Given the description of an element on the screen output the (x, y) to click on. 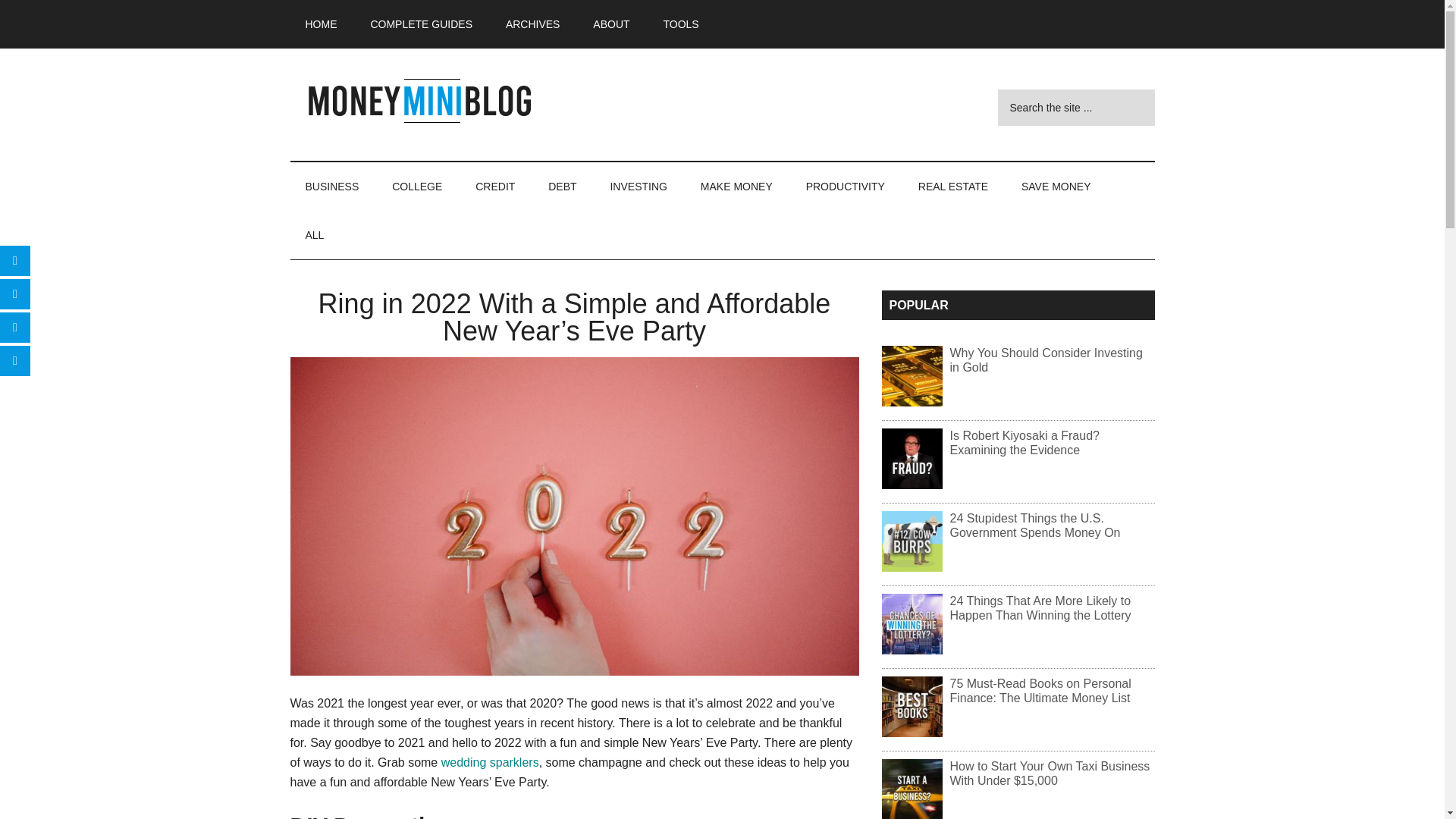
CREDIT (494, 186)
COMPLETE GUIDES (421, 24)
ABOUT (611, 24)
DEBT (561, 186)
REAL ESTATE (952, 186)
HOME (320, 24)
TOOLS (680, 24)
BUSINESS (331, 186)
INVESTING (637, 186)
MAKE MONEY (736, 186)
PRODUCTIVITY (844, 186)
SAVE MONEY (1056, 186)
